Given the description of an element on the screen output the (x, y) to click on. 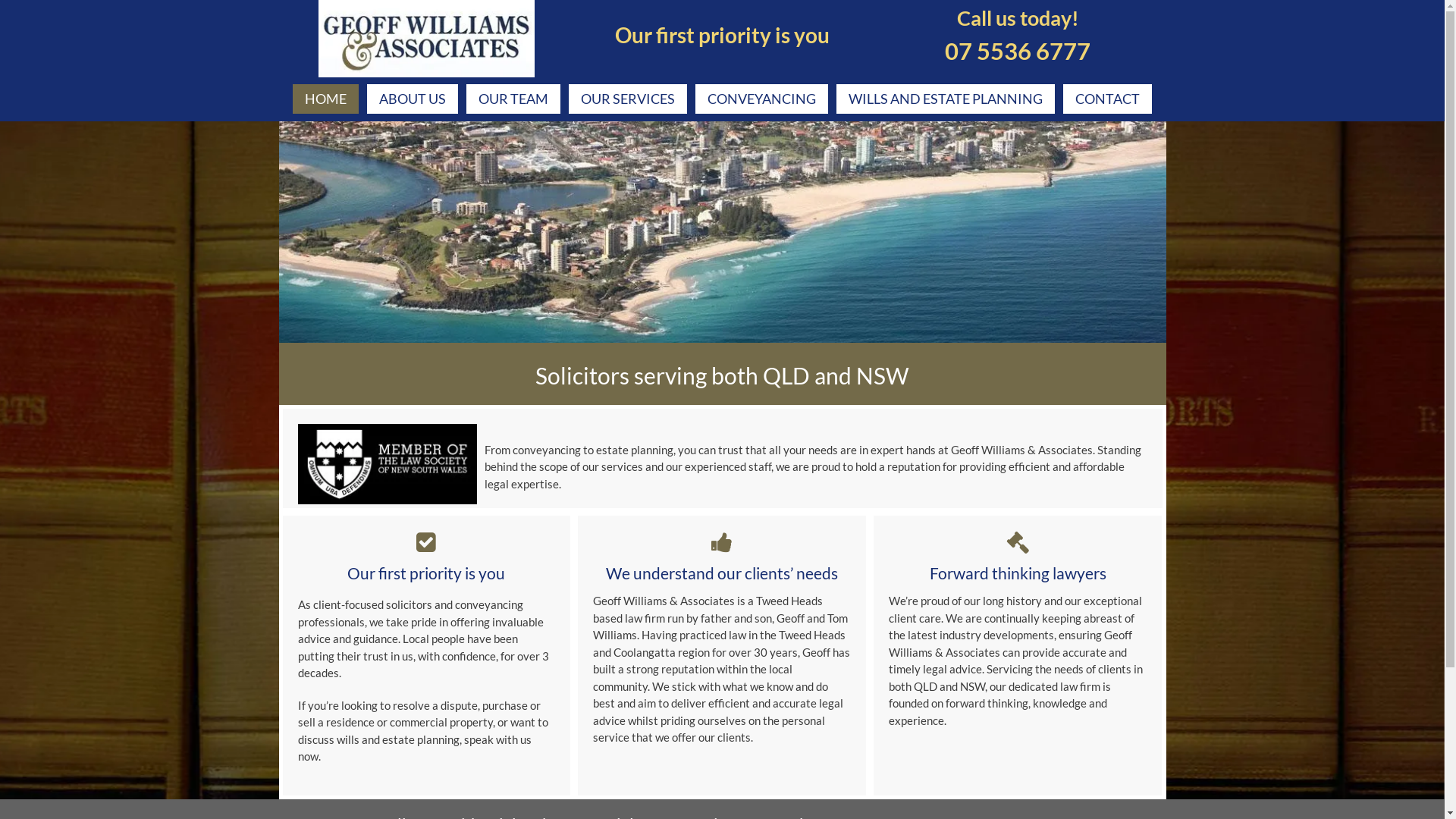
geoff williams and associates member law society nsw logo Element type: hover (386, 463)
07 5536 6777 Element type: text (1017, 68)
OUR SERVICES Element type: text (627, 98)
geoff williams and associates gold coast coolangatta Element type: hover (722, 232)
HOME Element type: text (325, 98)
geoff williams and associates business logo Element type: hover (426, 38)
CONTACT Element type: text (1107, 98)
WILLS AND ESTATE PLANNING Element type: text (945, 98)
CONVEYANCING Element type: text (761, 98)
ABOUT US Element type: text (412, 98)
OUR TEAM Element type: text (513, 98)
